Given the description of an element on the screen output the (x, y) to click on. 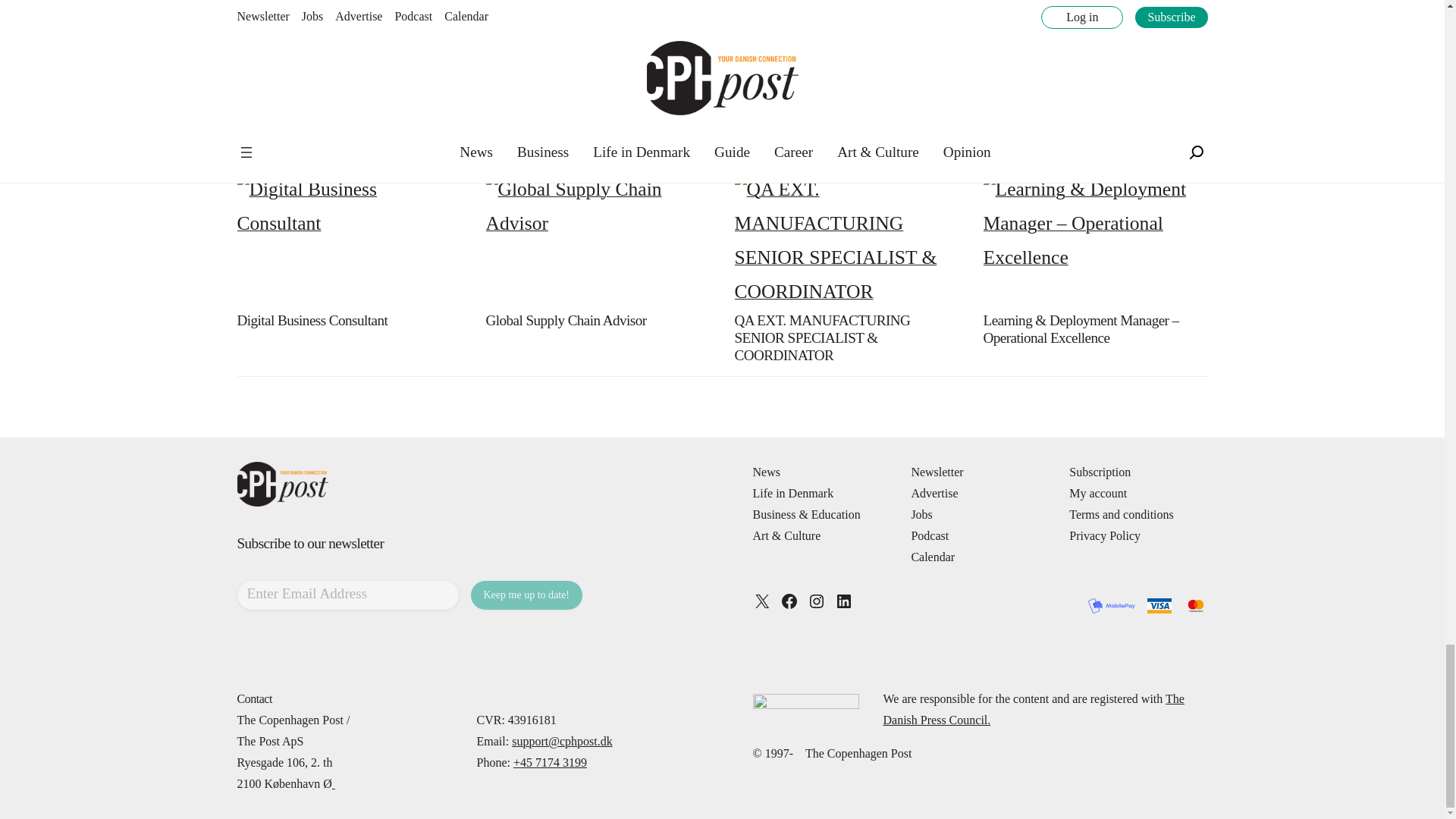
Keep me up to date! (526, 594)
